Given the description of an element on the screen output the (x, y) to click on. 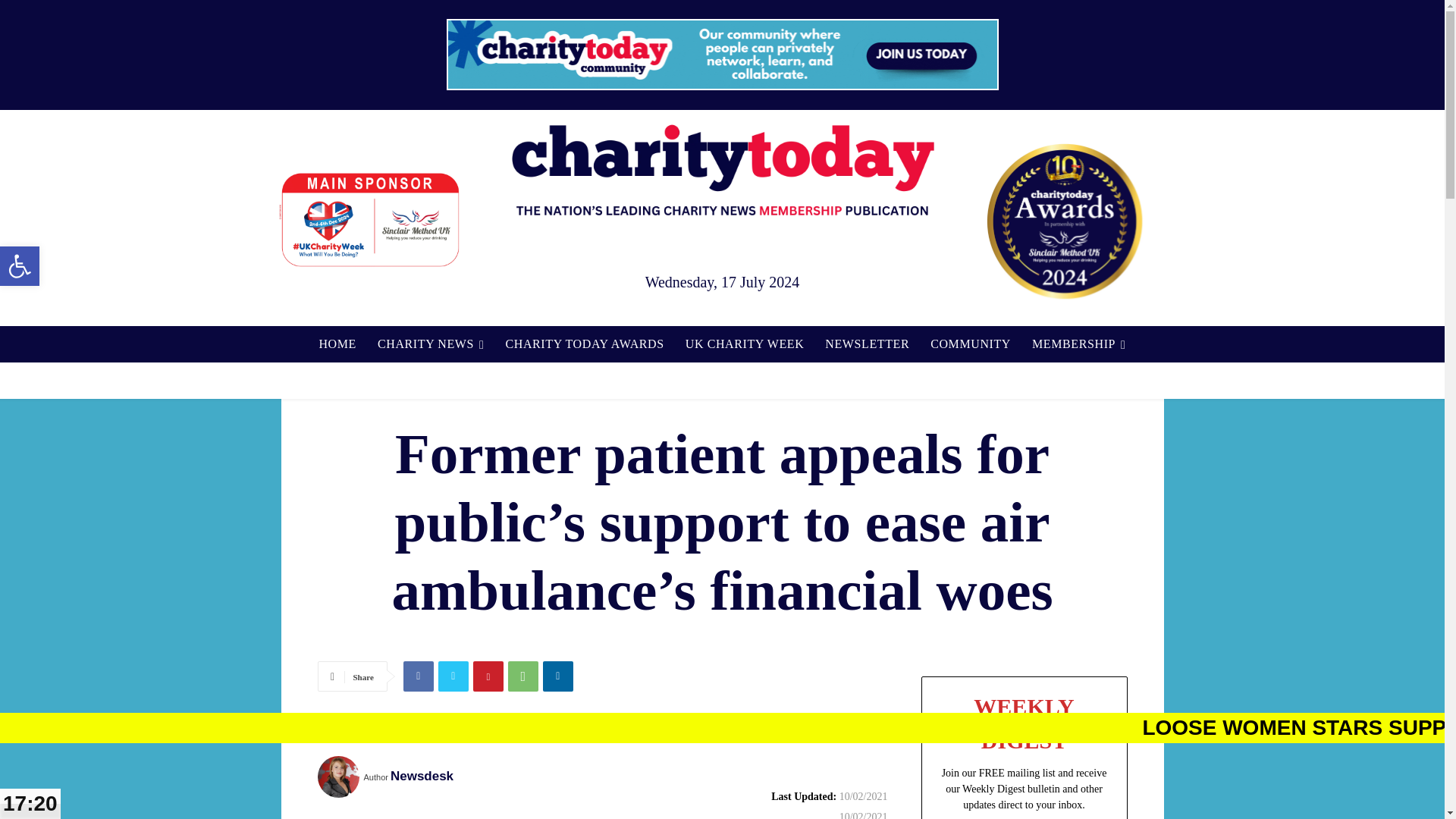
High Contrast (19, 265)
Light Background (336, 343)
Readable Font (430, 343)
